Given the description of an element on the screen output the (x, y) to click on. 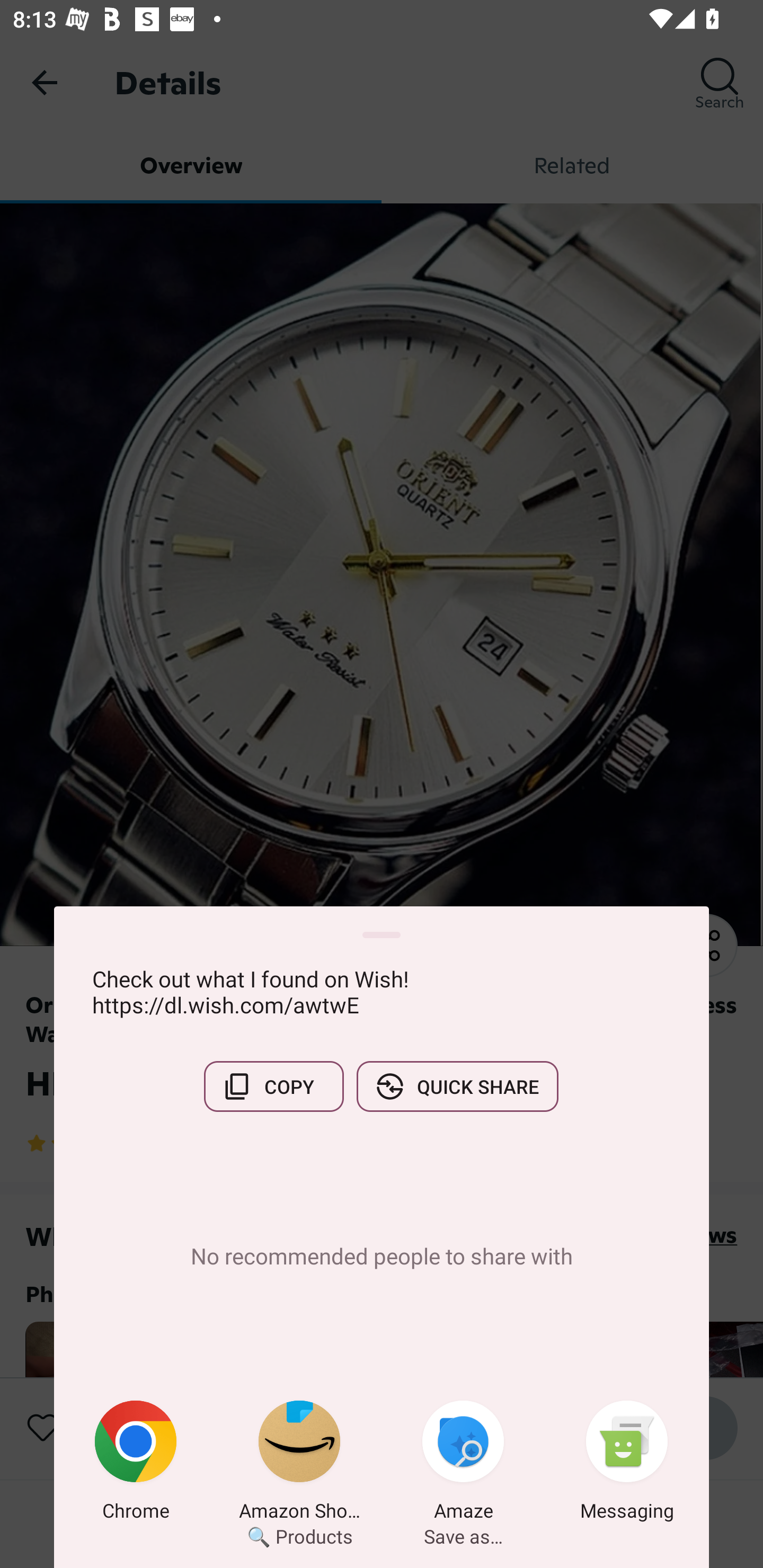
COPY (273, 1086)
QUICK SHARE (457, 1086)
Chrome (135, 1463)
Amazon Shopping 🔍 Products (299, 1463)
Amaze Save as… (463, 1463)
Messaging (626, 1463)
